Given the description of an element on the screen output the (x, y) to click on. 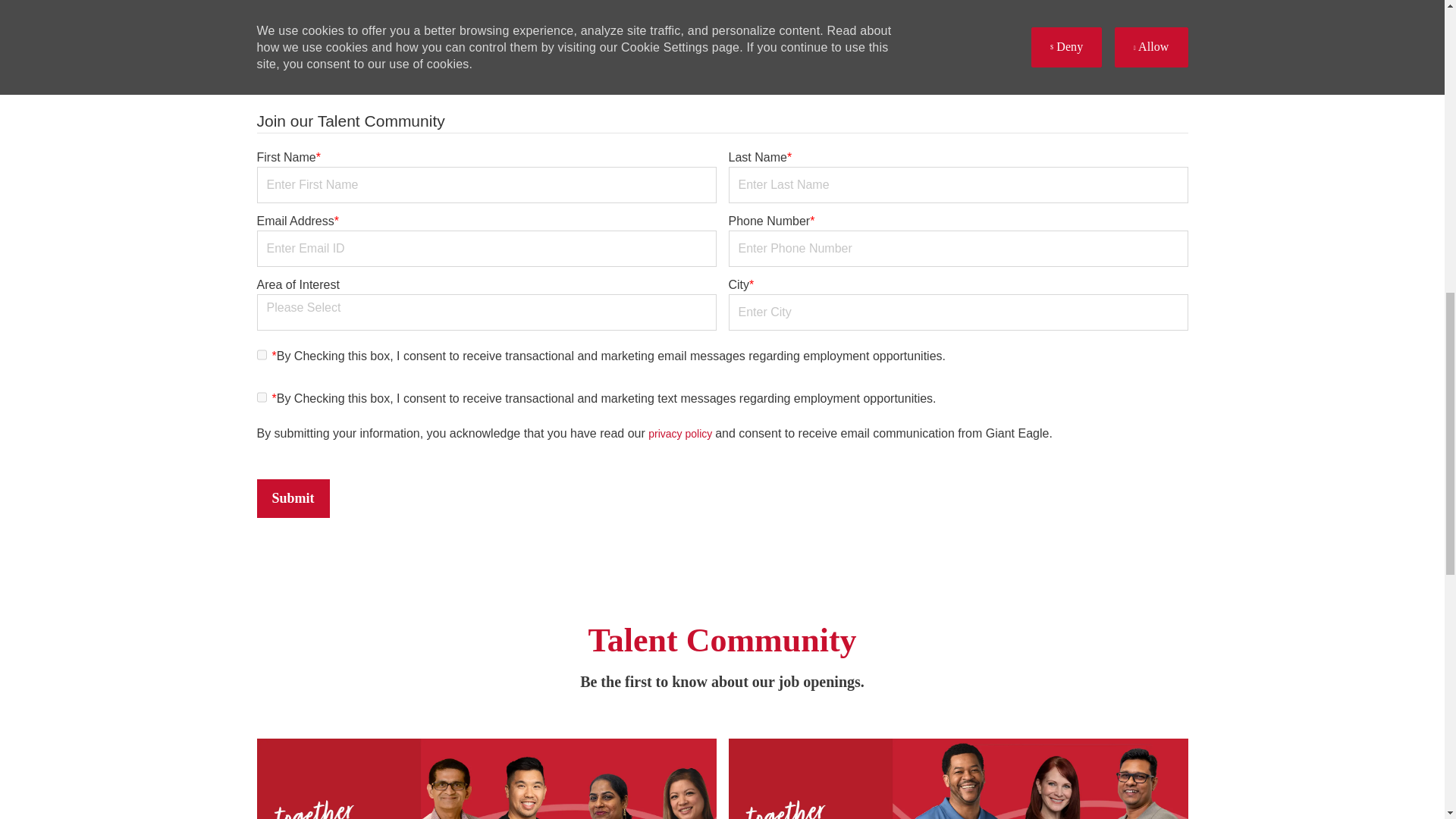
Submit (292, 498)
Upload Resume (780, 43)
Onedrive (676, 42)
Dropbox (630, 42)
privacy policy (680, 433)
